Given the description of an element on the screen output the (x, y) to click on. 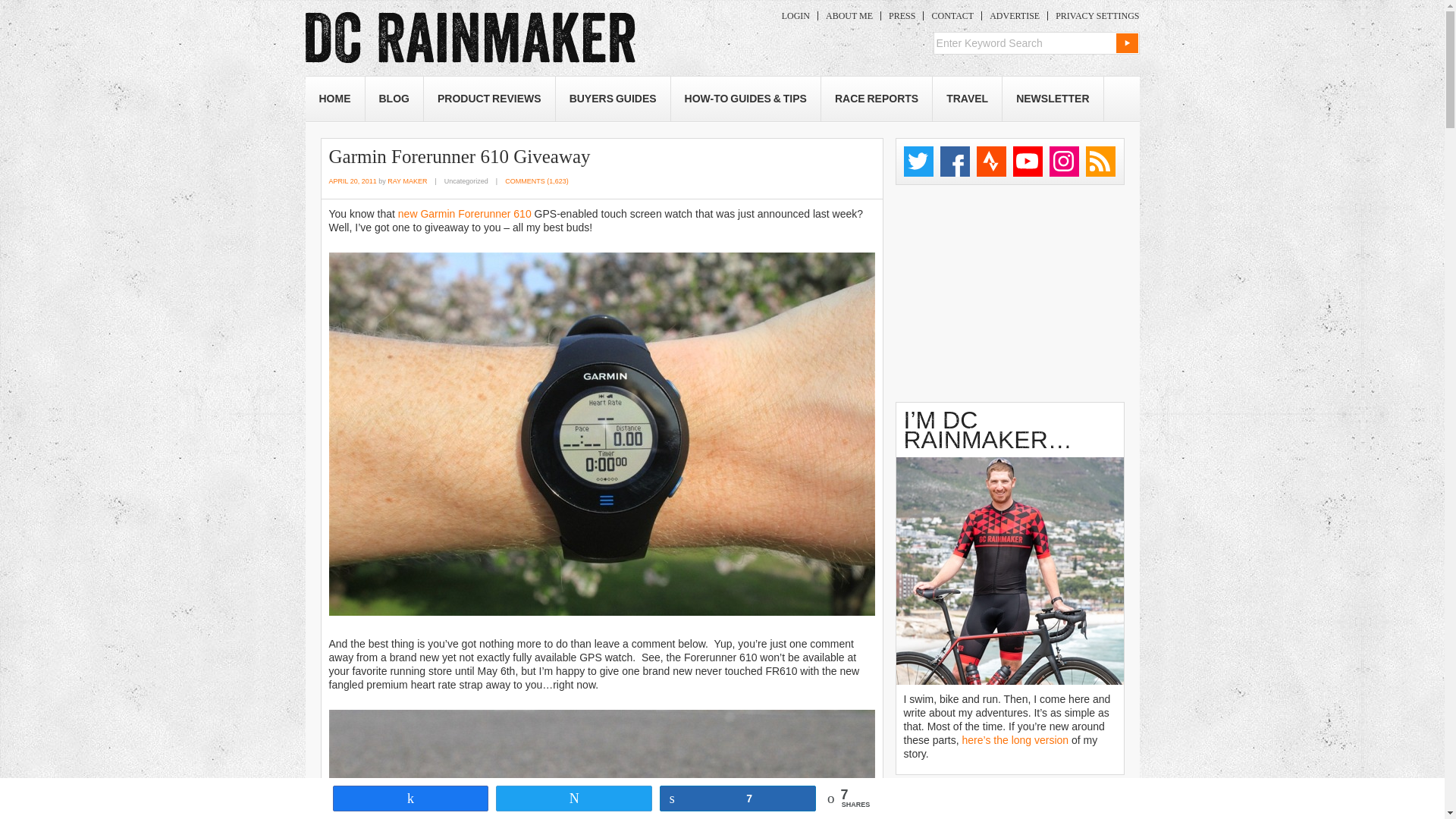
PRODUCT REVIEWS (488, 98)
ABOUT ME (849, 15)
Search (1127, 43)
BUYERS GUIDES (612, 98)
Posts by Ray Maker (406, 181)
4:01 am (353, 181)
BLOG (394, 98)
Search (1127, 43)
PRESS (901, 15)
PRIVACY SETTINGS (1093, 15)
